Given the description of an element on the screen output the (x, y) to click on. 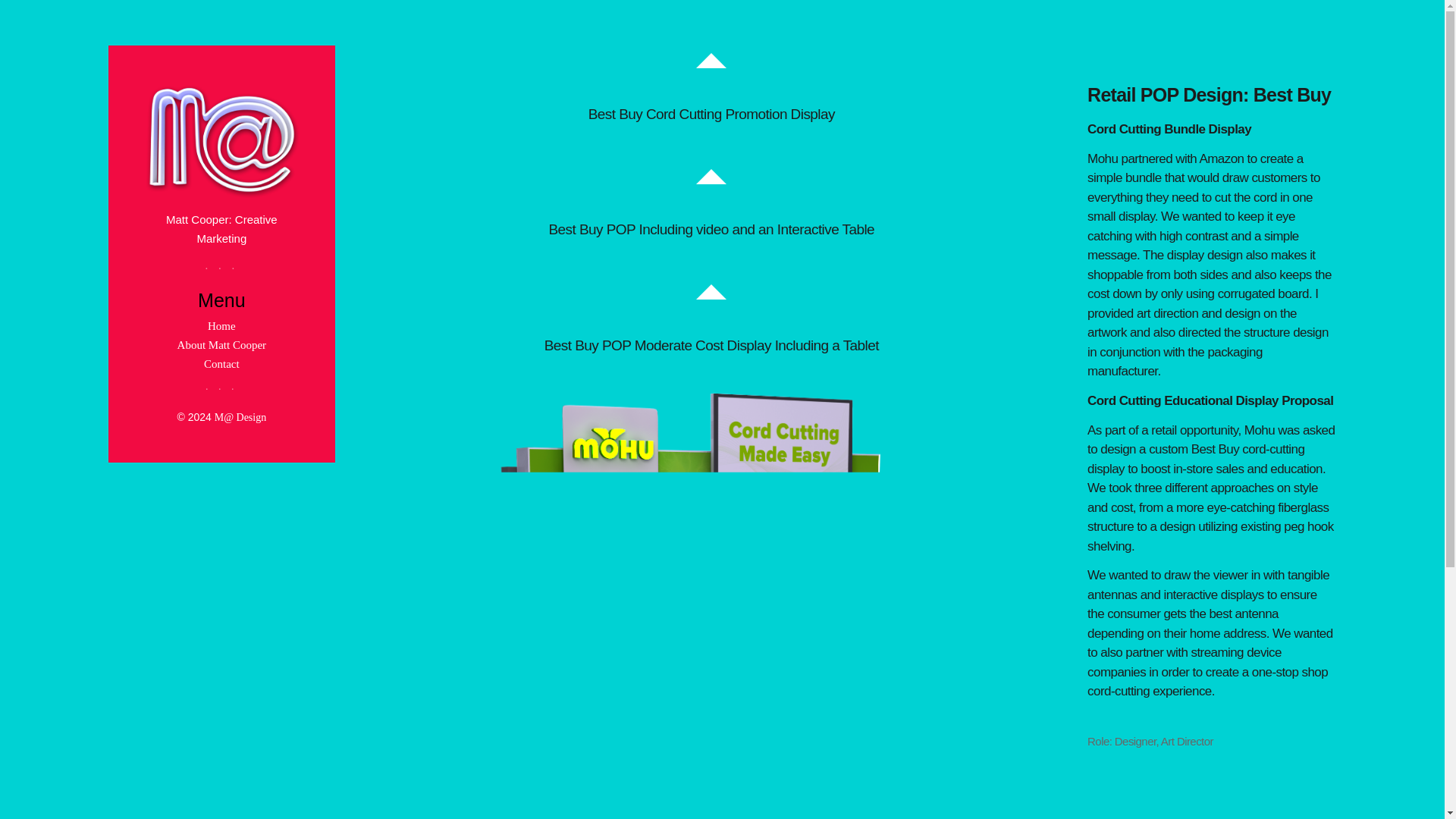
Best Buy POP Minimal Option Without Electronics (710, 712)
About Matt Cooper (221, 345)
Contact (221, 363)
Home (221, 326)
